Given the description of an element on the screen output the (x, y) to click on. 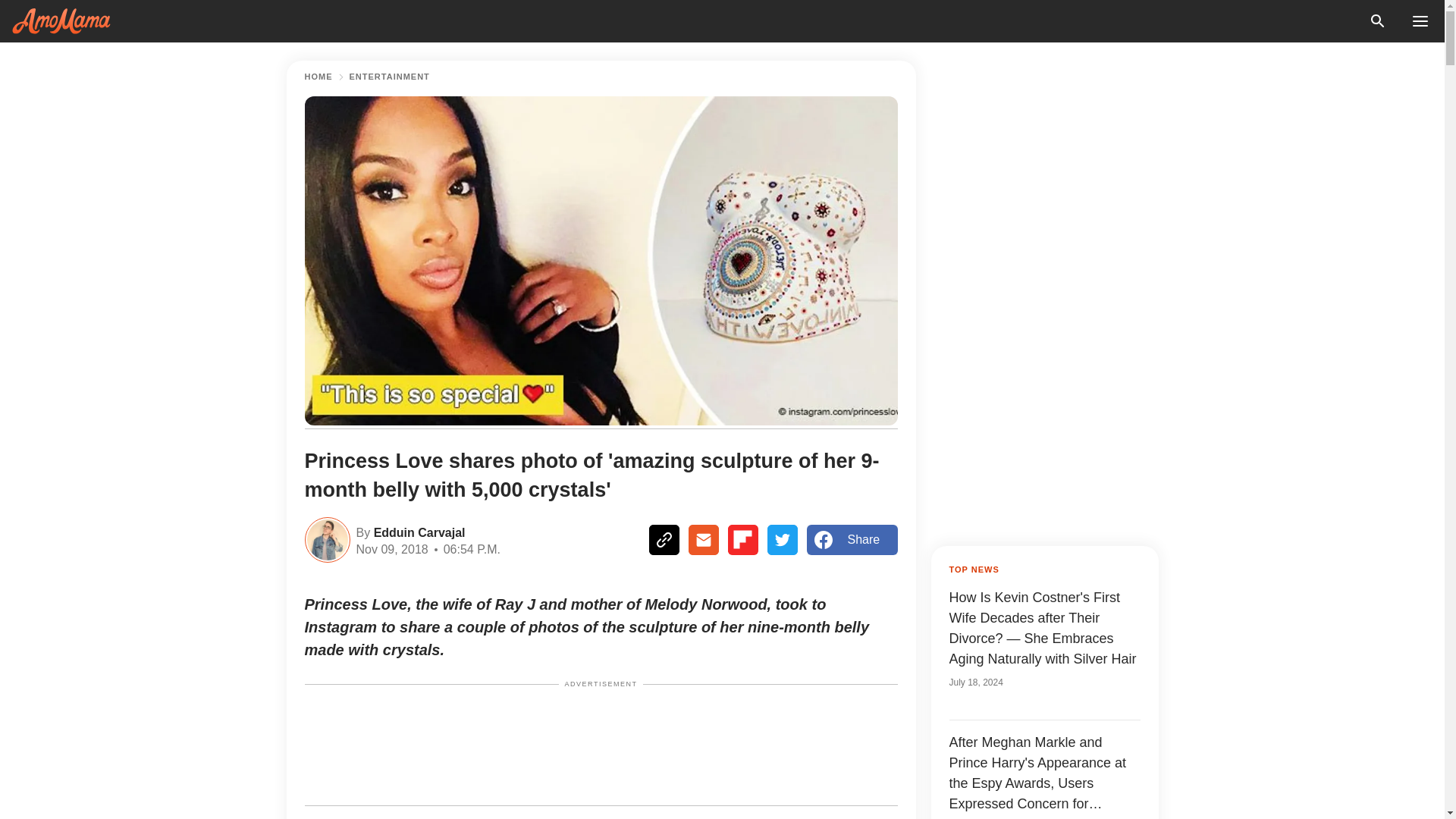
HOME (318, 76)
ENTERTAINMENT (389, 76)
Edduin Carvajal (416, 531)
